Given the description of an element on the screen output the (x, y) to click on. 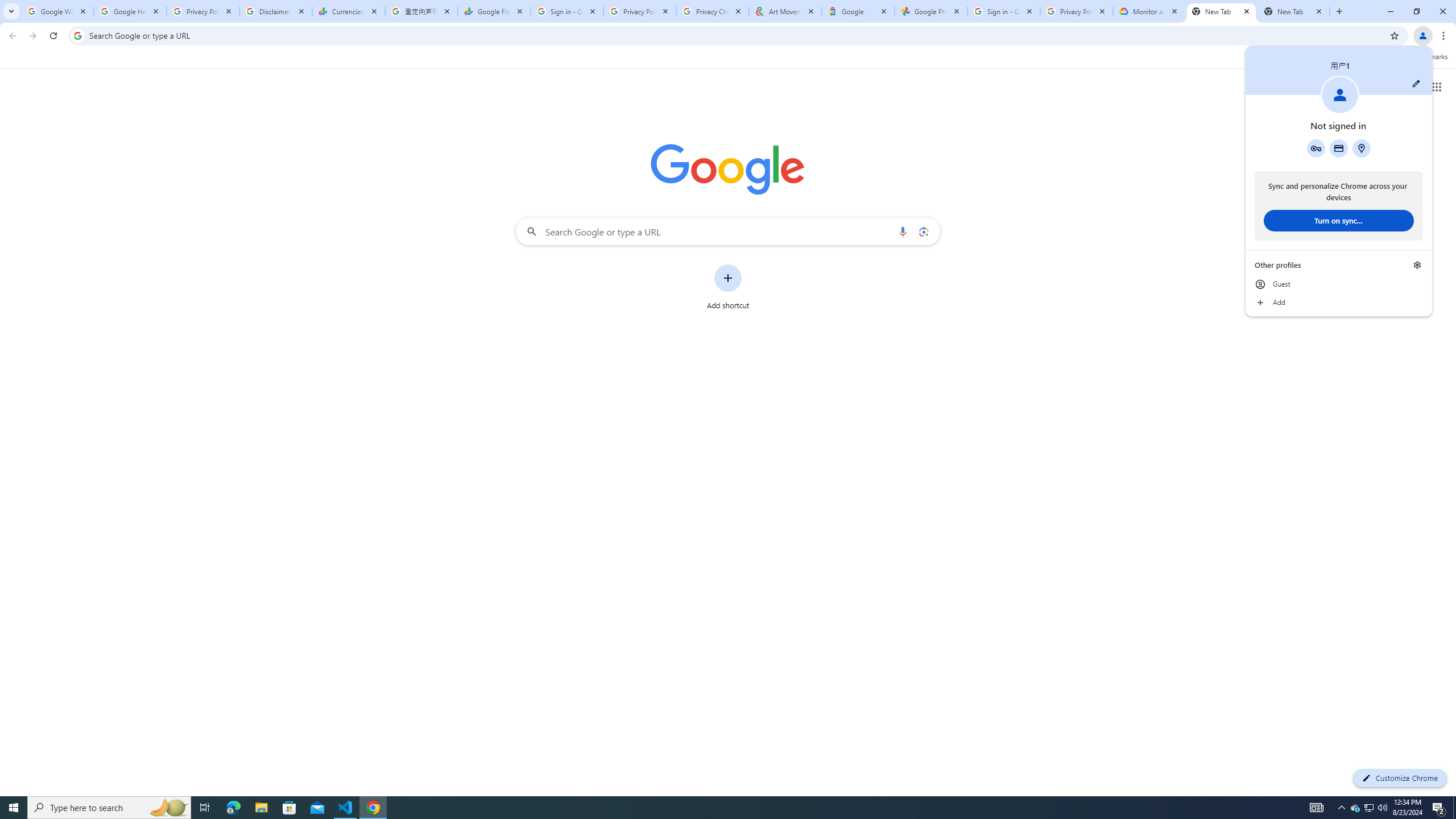
Action Center, 2 new notifications (1439, 807)
Task View (204, 807)
Manage profiles (1417, 265)
Google (857, 11)
Google Chrome - 1 running window (373, 807)
Search by voice (902, 230)
Sign in - Google Accounts (1003, 11)
